Given the description of an element on the screen output the (x, y) to click on. 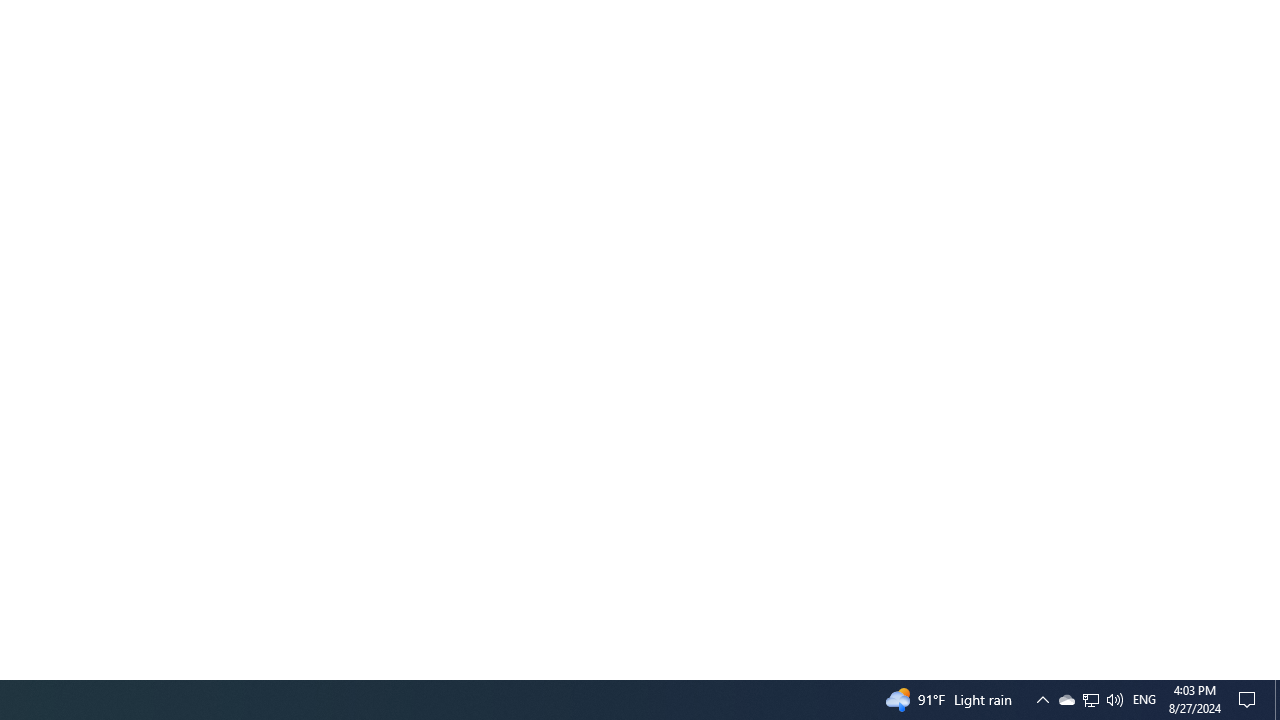
User Promoted Notification Area (1090, 699)
Q2790: 100% (1114, 699)
Tray Input Indicator - English (United States) (1066, 699)
Notification Chevron (1144, 699)
Show desktop (1042, 699)
Action Center, No new notifications (1091, 699)
